Given the description of an element on the screen output the (x, y) to click on. 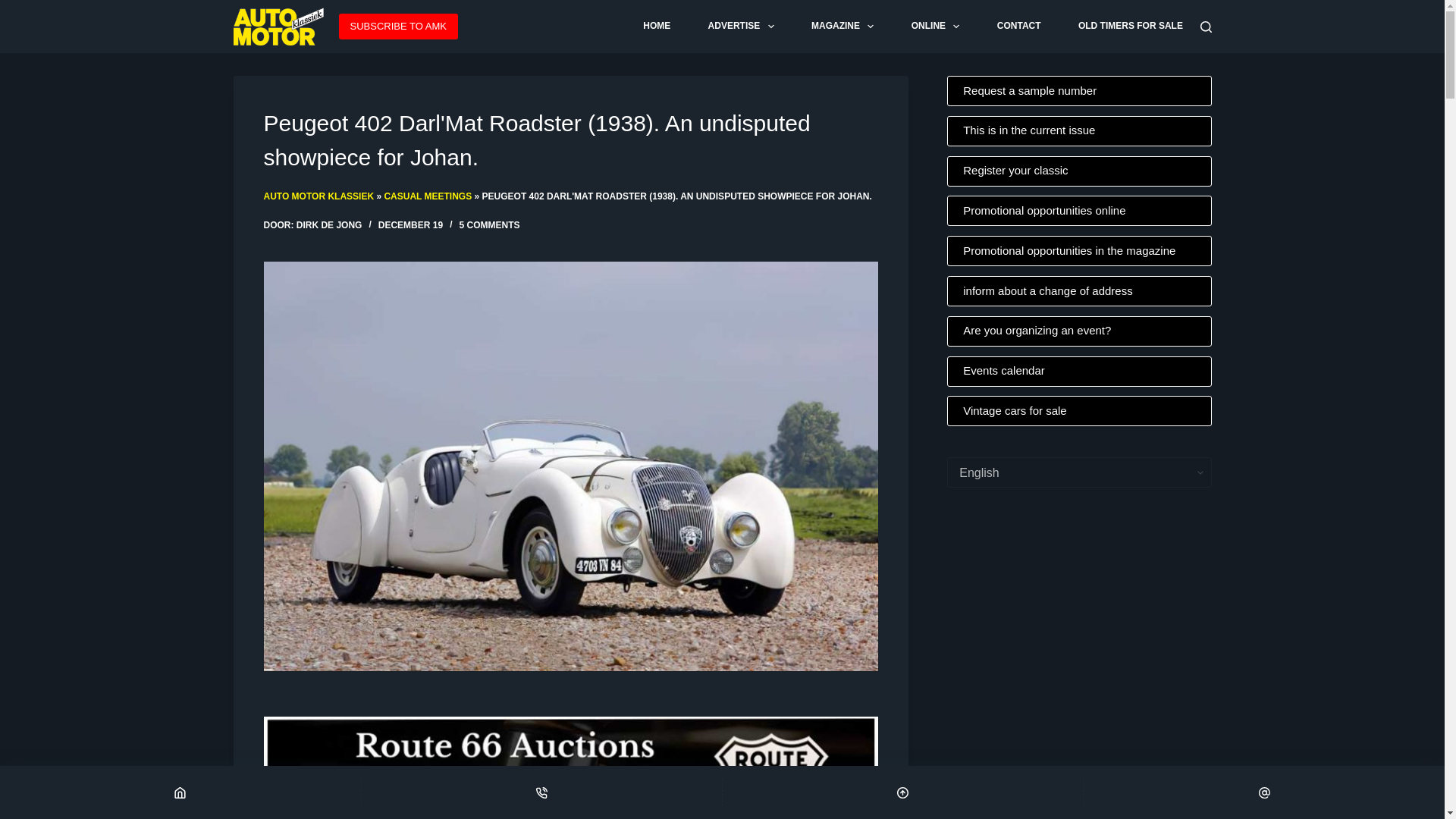
Magazine (842, 26)
MAGAZINE (842, 26)
ADVERTISE (741, 26)
Go to the content (15, 7)
SUBSCRIBE TO AMK (398, 26)
Online (934, 26)
Messages by Dirk de Jong (329, 225)
